Given the description of an element on the screen output the (x, y) to click on. 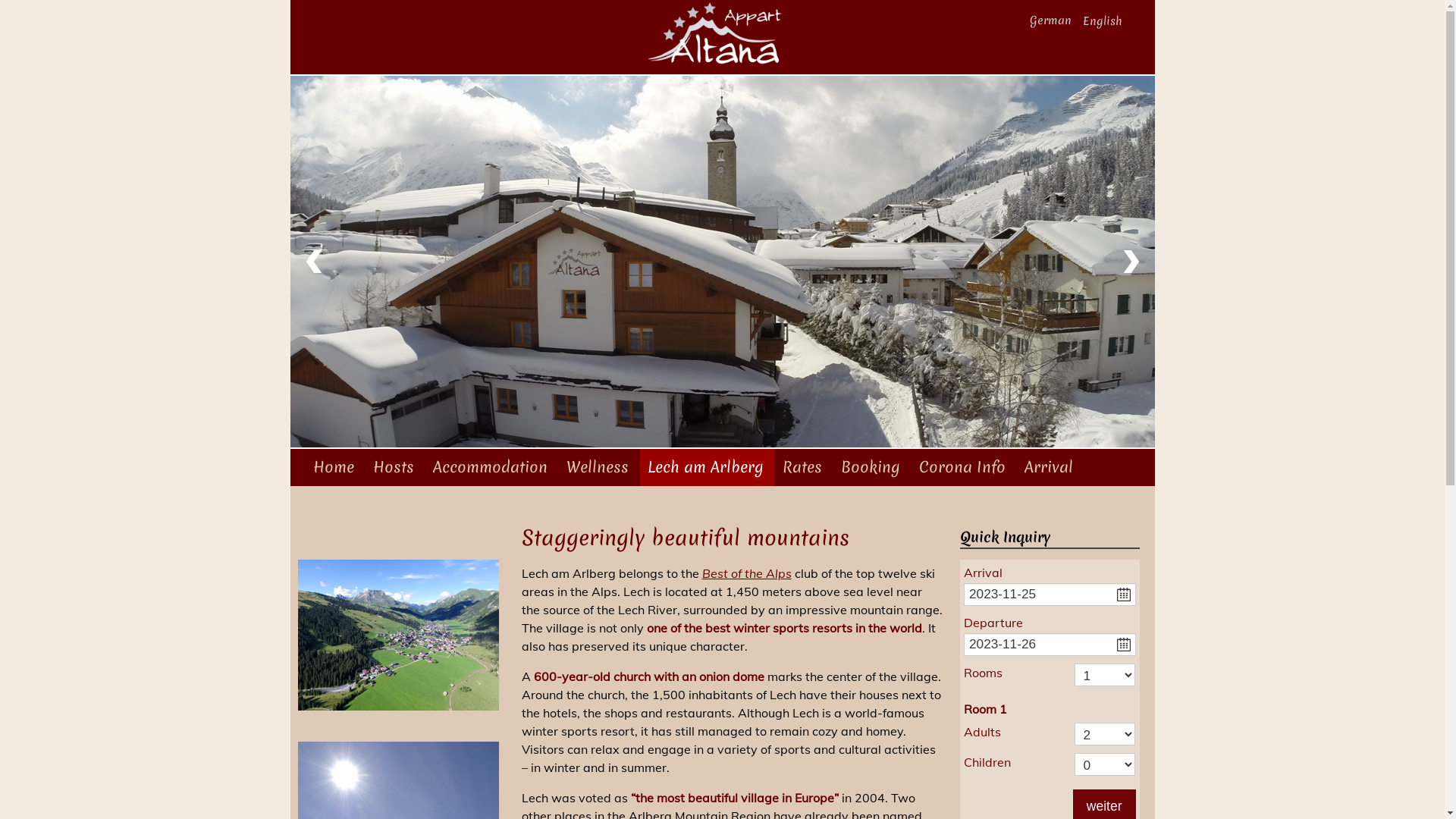
Corona Info Element type: text (963, 467)
Best of the Alps Element type: text (746, 572)
Wellness Element type: text (598, 467)
Arrival Element type: text (1049, 467)
Lech am Arlberg Element type: text (707, 467)
Home Element type: text (334, 467)
English Element type: text (1103, 21)
Rates Element type: text (804, 467)
German Element type: text (1051, 21)
Booking Element type: text (871, 467)
Accommodation Element type: text (491, 467)
Hosts Element type: text (395, 467)
